Given the description of an element on the screen output the (x, y) to click on. 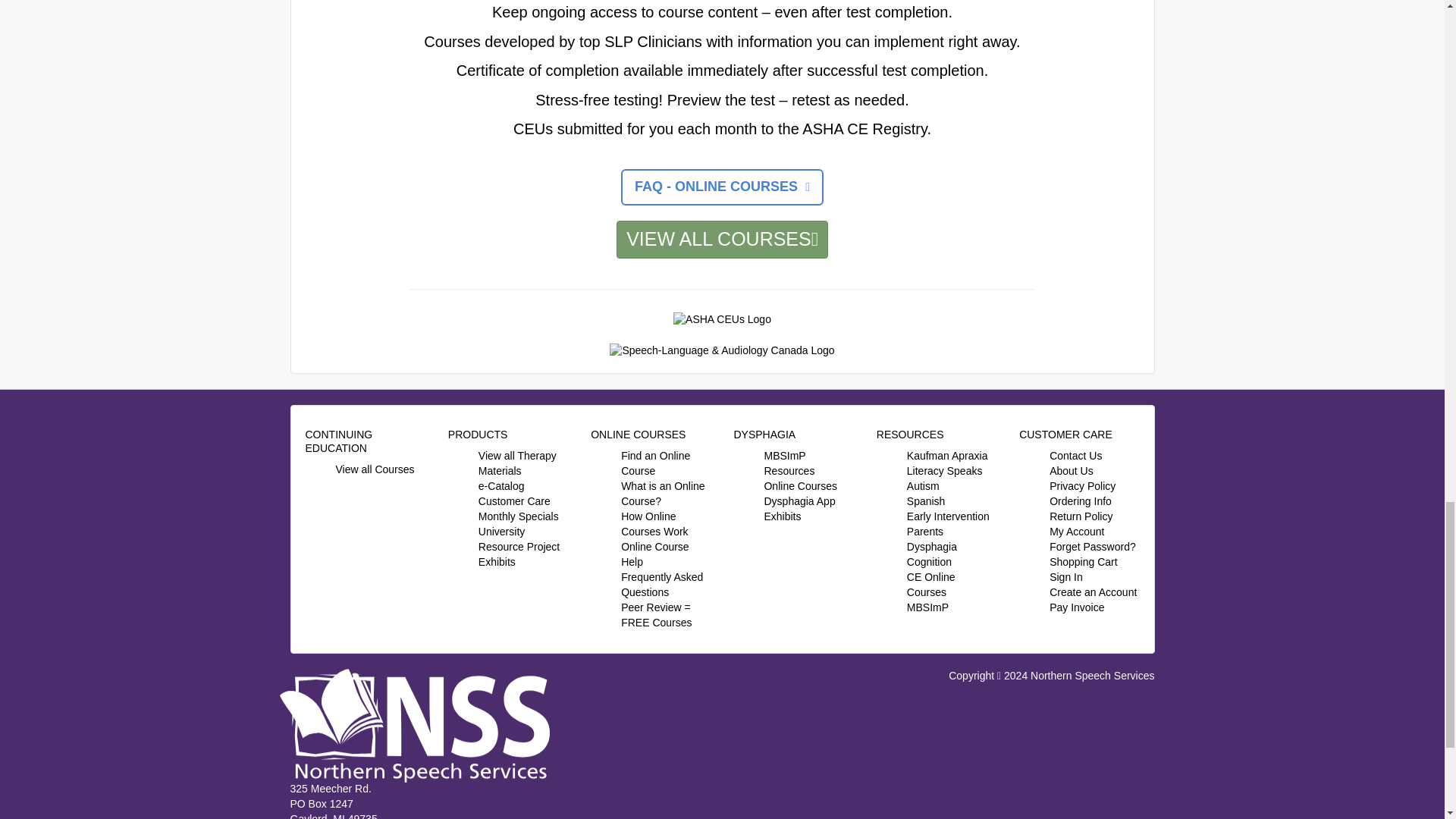
View all Online Courses (373, 469)
